Given the description of an element on the screen output the (x, y) to click on. 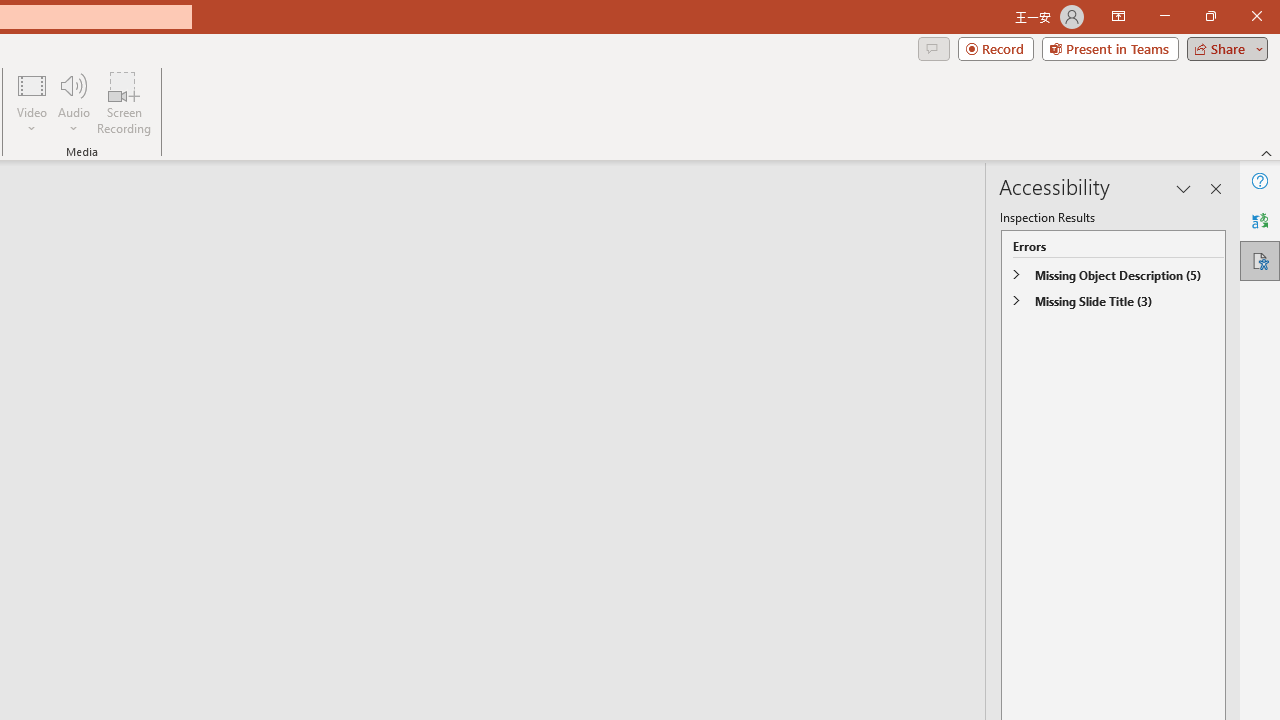
Screen Recording... (123, 102)
Video (31, 102)
